Given the description of an element on the screen output the (x, y) to click on. 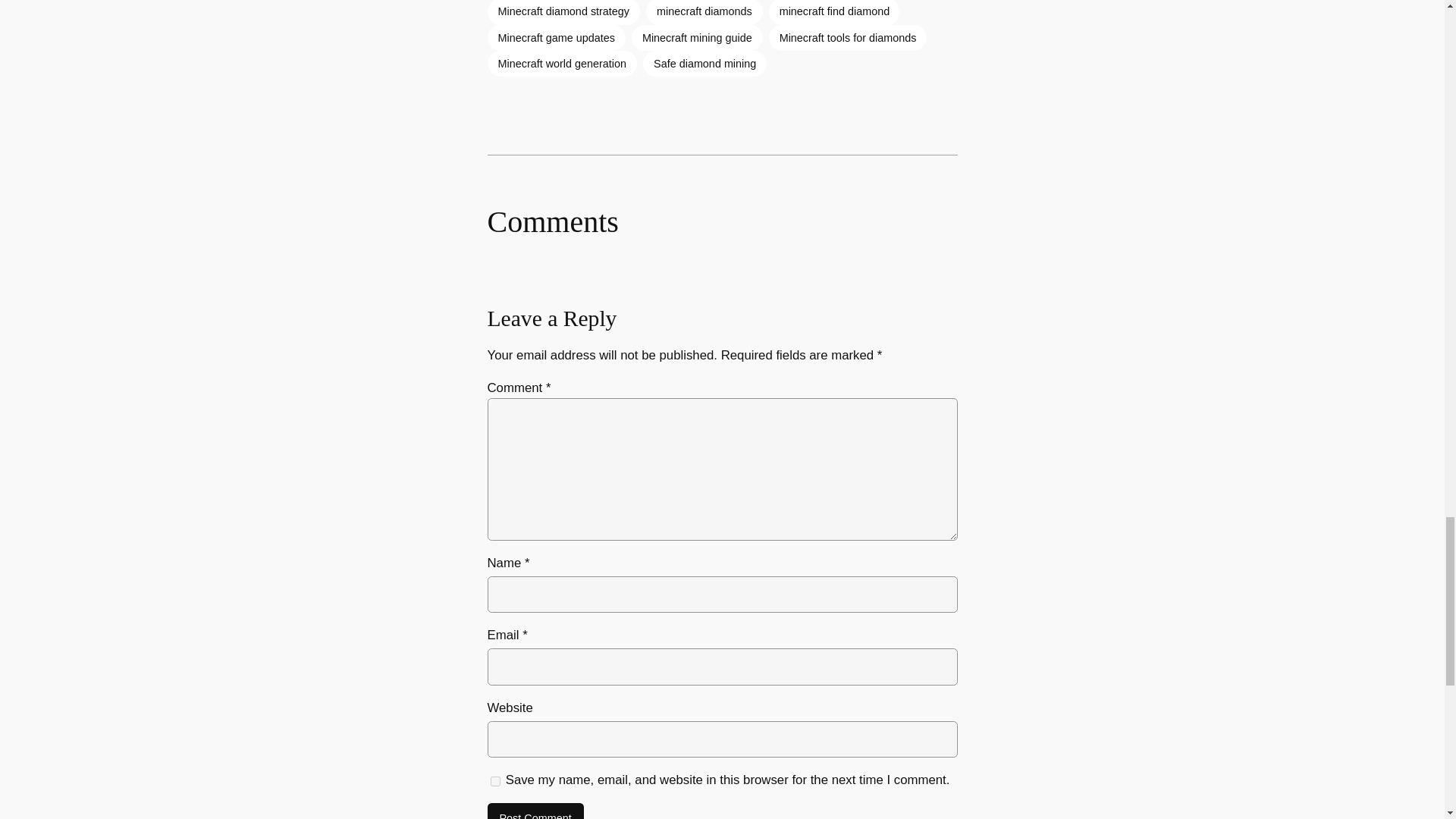
Post Comment (534, 811)
Minecraft tools for diamonds (847, 37)
Safe diamond mining (705, 63)
Minecraft mining guide (696, 37)
Minecraft world generation (561, 63)
Minecraft game updates (555, 37)
Post Comment (534, 811)
minecraft find diamond (834, 12)
minecraft diamonds (704, 12)
Minecraft diamond strategy (563, 12)
